Given the description of an element on the screen output the (x, y) to click on. 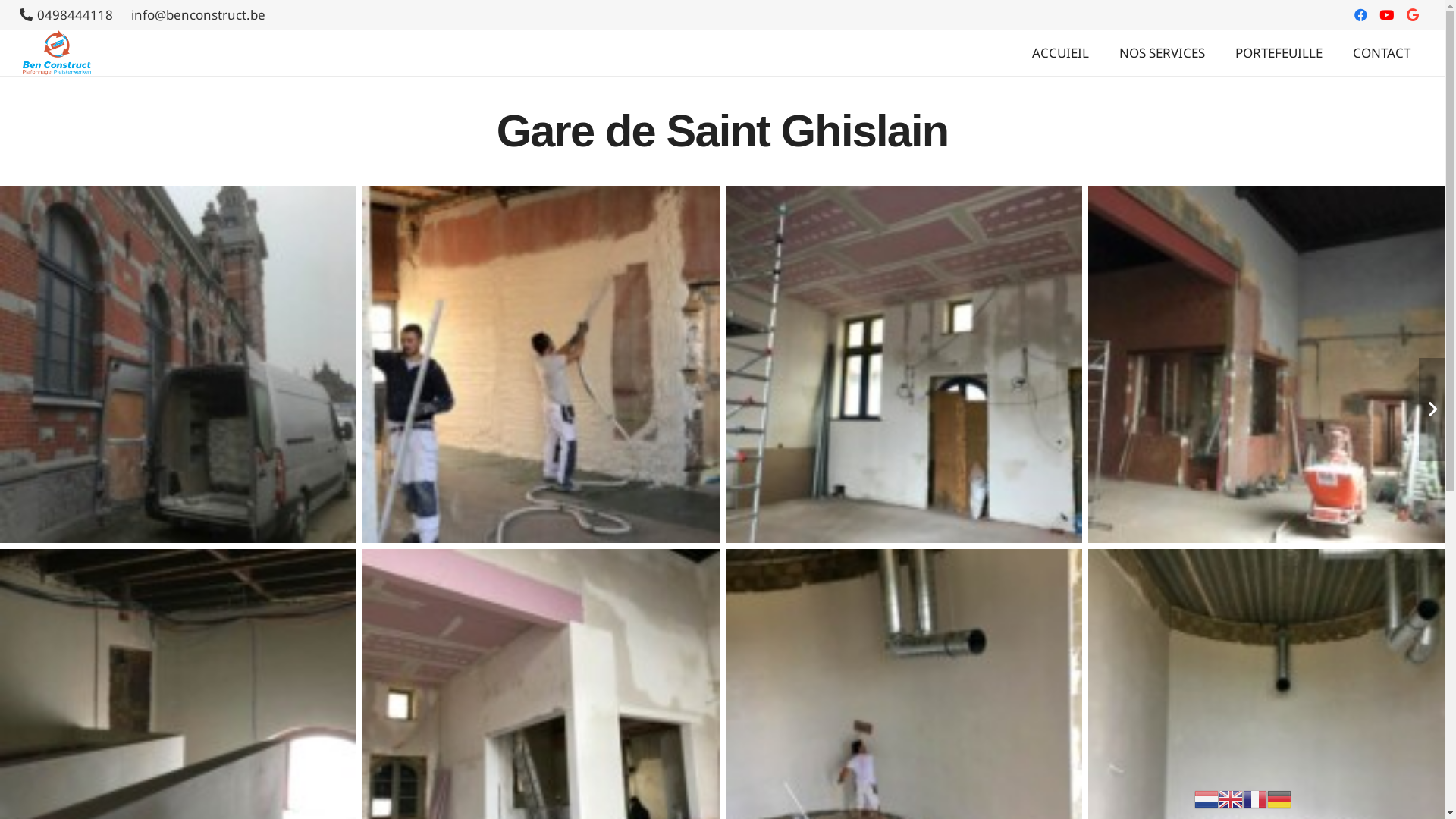
ACCUIEIL Element type: text (1059, 52)
YouTube Element type: hover (1386, 15)
French Element type: hover (1254, 797)
Facebook Element type: hover (1361, 15)
Dutch Element type: hover (1206, 797)
Google Element type: hover (1412, 15)
PORTEFEUILLE Element type: text (1277, 52)
CONTACT Element type: text (1381, 52)
NOS SERVICES Element type: text (1162, 52)
info@benconstruct.be Element type: text (198, 14)
English Element type: hover (1230, 797)
0498444118 Element type: text (66, 14)
German Element type: hover (1279, 797)
